Given the description of an element on the screen output the (x, y) to click on. 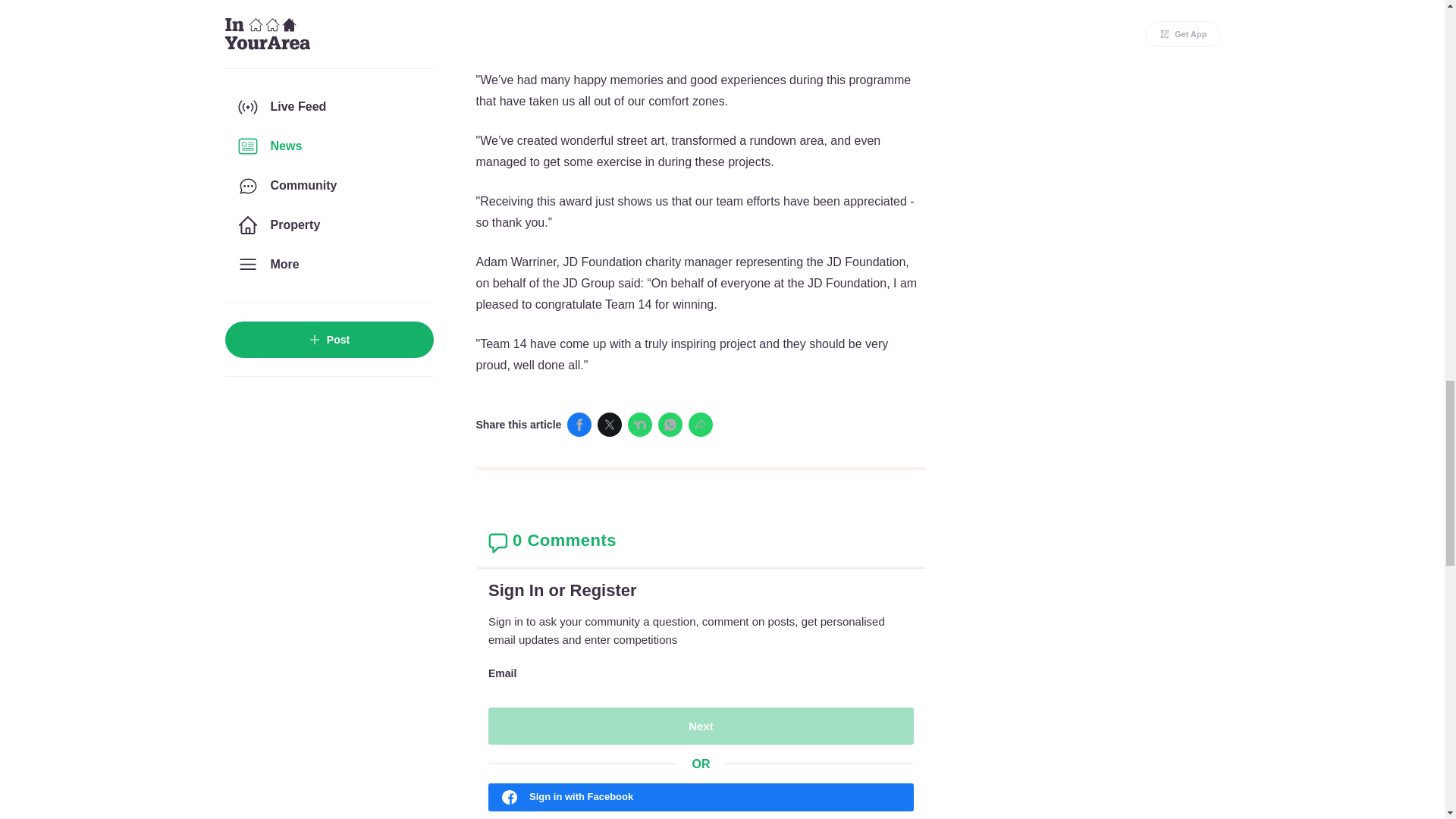
Share to Facebook (579, 424)
Share to Whatsapp (670, 424)
Share to X (608, 424)
Share to ... (700, 424)
Share to Nextdoor (639, 424)
